Given the description of an element on the screen output the (x, y) to click on. 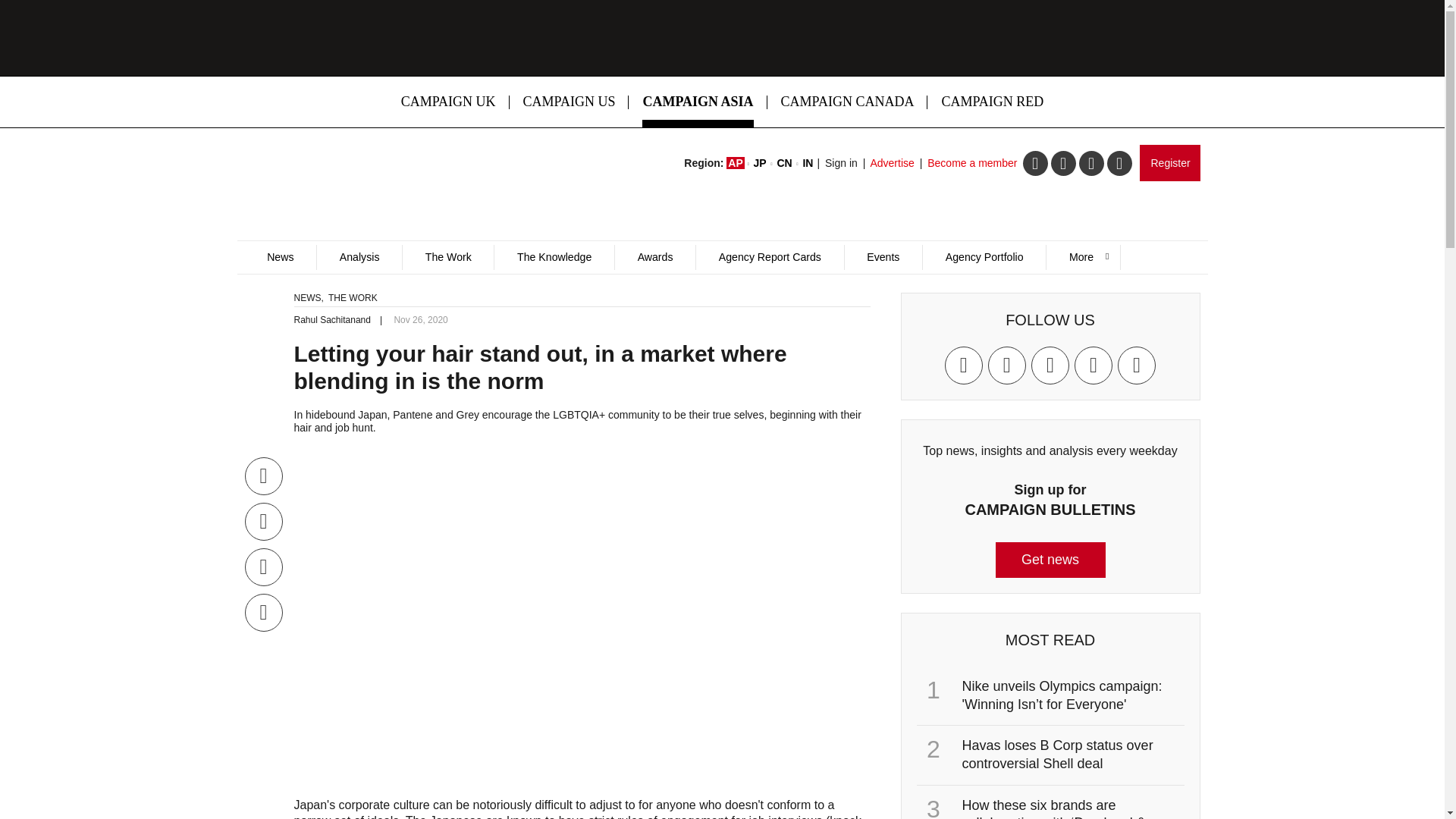
Agency Portfolio (983, 257)
The Knowledge (553, 257)
Become a member (971, 162)
Sign in (841, 162)
Advertise (891, 162)
The Knowledge (553, 257)
Sign in (841, 162)
Agency Report Cards (769, 257)
JP (760, 162)
CAMPAIGN US (568, 101)
Advertise (891, 162)
CAMPAIGN UK (448, 101)
AP (735, 162)
Analysis (358, 257)
CAMPAIGN ASIA (697, 101)
